Given the description of an element on the screen output the (x, y) to click on. 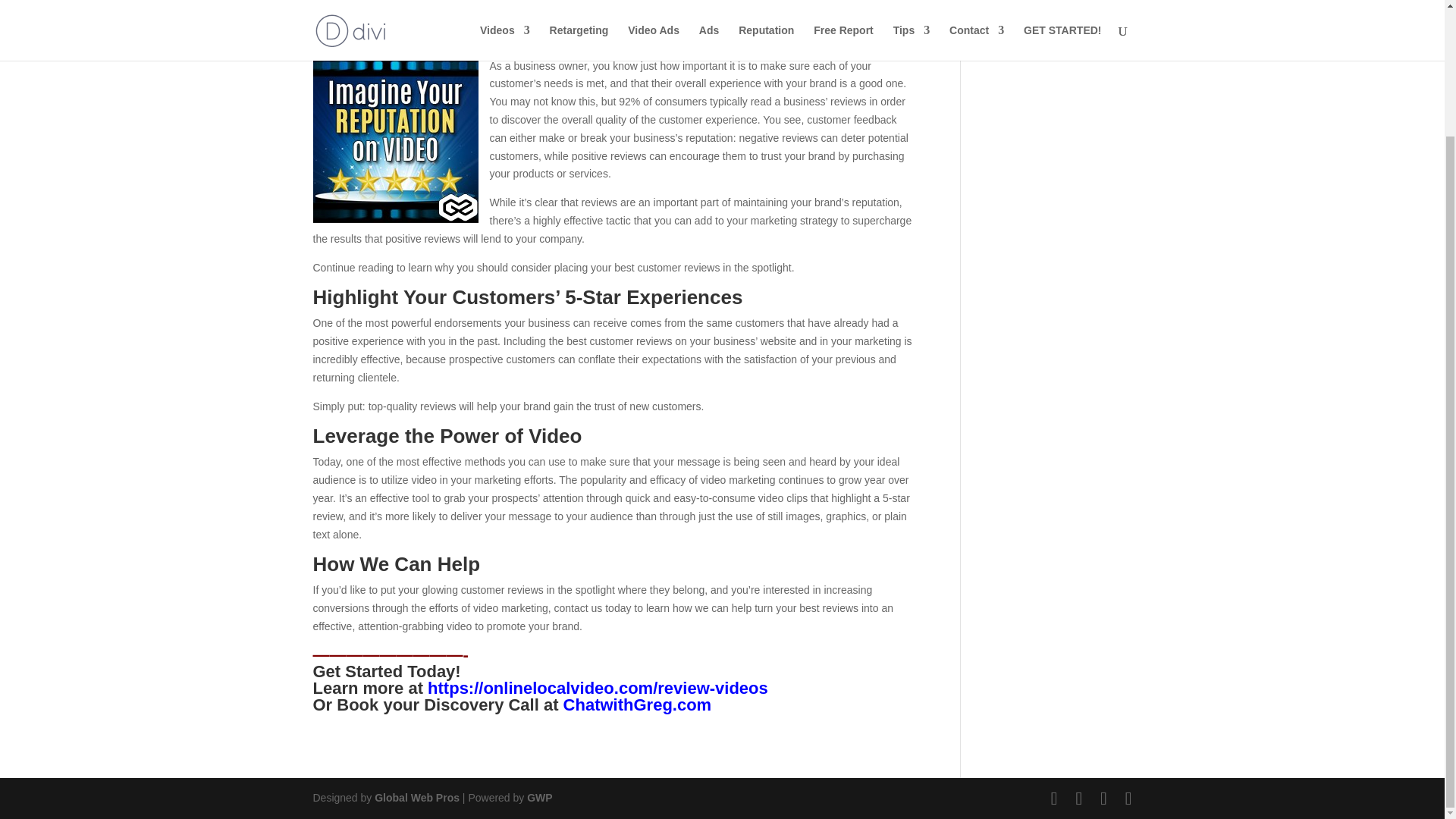
Premium Web Design (417, 797)
